Given the description of an element on the screen output the (x, y) to click on. 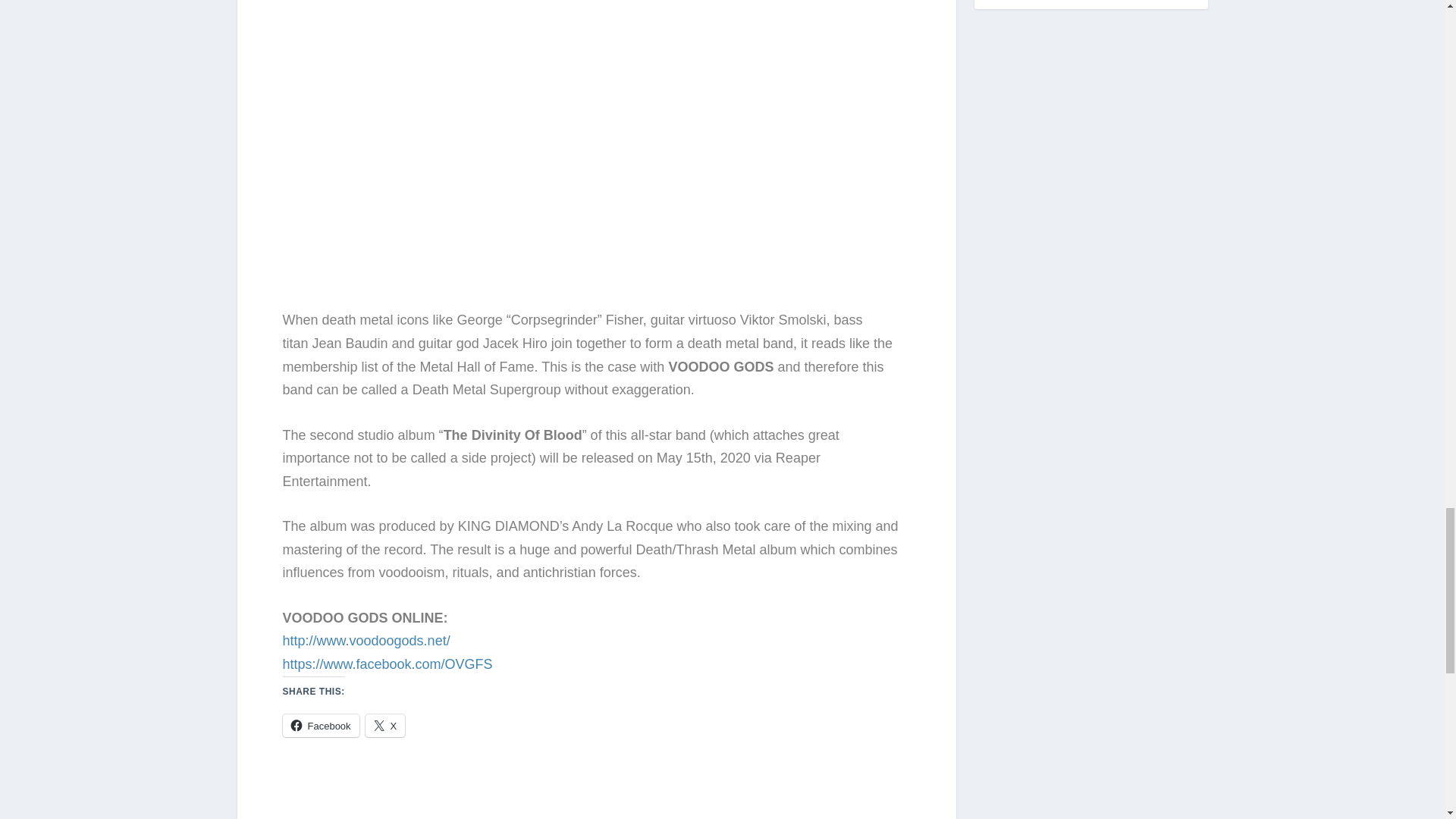
Facebook (320, 725)
Click to share on Facebook (320, 725)
X (385, 725)
Click to share on X (385, 725)
